Given the description of an element on the screen output the (x, y) to click on. 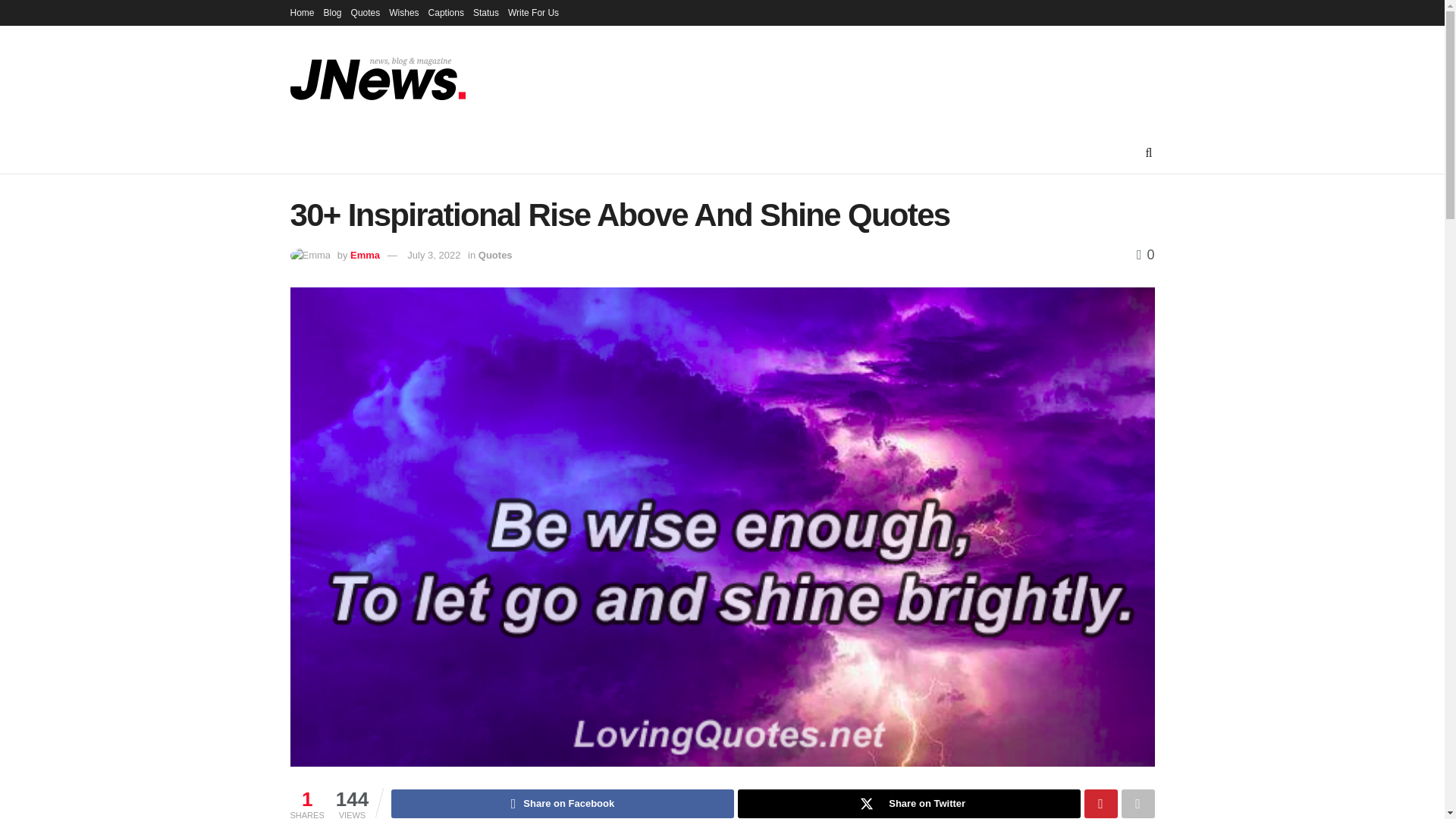
Quotes (365, 12)
Home (301, 12)
Captions (446, 12)
Share on Facebook (562, 803)
Write For Us (533, 12)
Status (486, 12)
July 3, 2022 (433, 255)
Emma (365, 255)
Wishes (403, 12)
0 (1145, 254)
Share on Twitter (909, 803)
Quotes (495, 255)
